Given the description of an element on the screen output the (x, y) to click on. 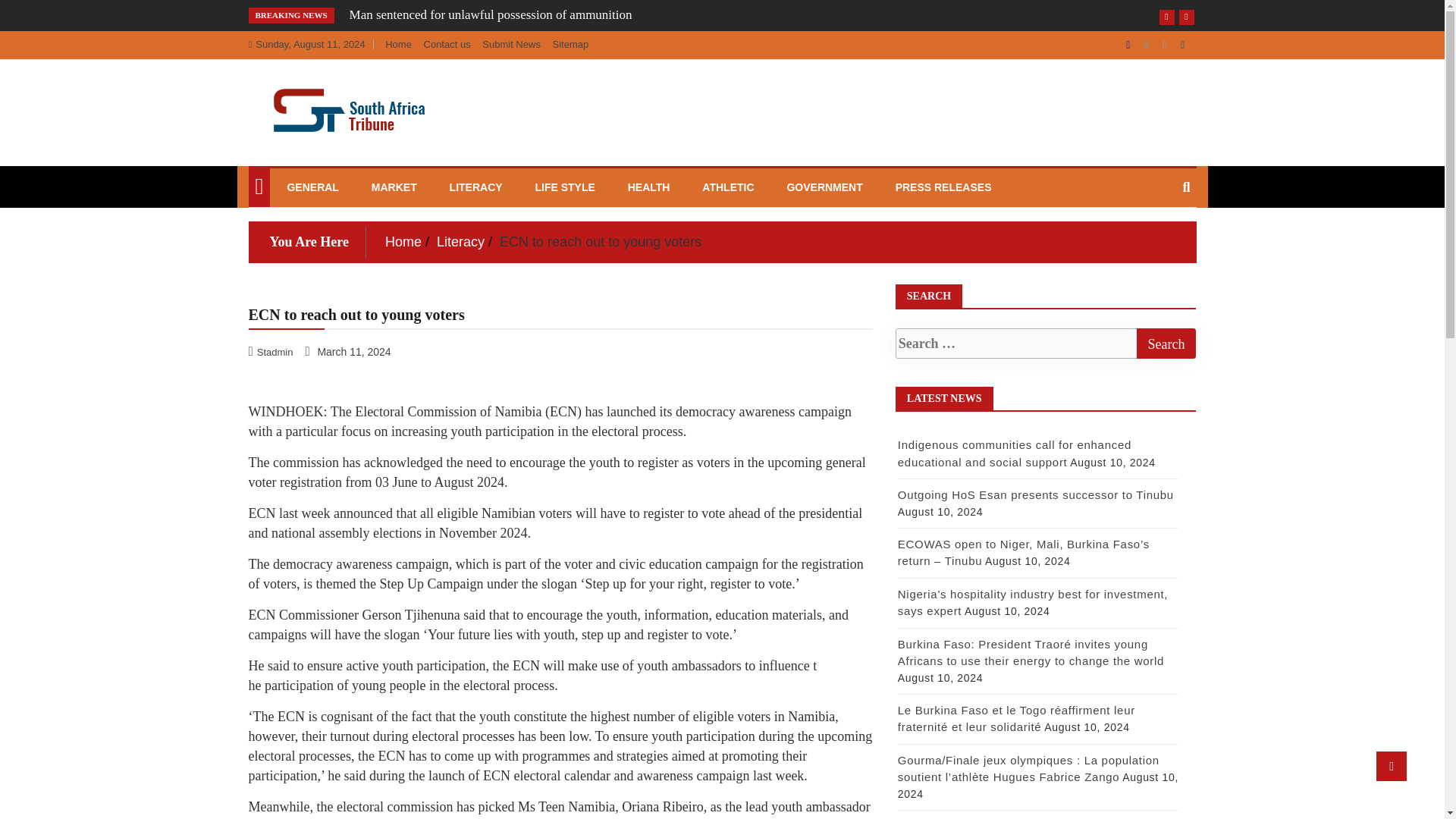
Contact us (446, 43)
Sitemap (569, 43)
Submit News (510, 43)
HEALTH (648, 187)
GENERAL (312, 187)
Search (1165, 343)
South Africa Tribune (322, 186)
MARKET (393, 187)
Home (398, 43)
GOVERNMENT (823, 187)
